Given the description of an element on the screen output the (x, y) to click on. 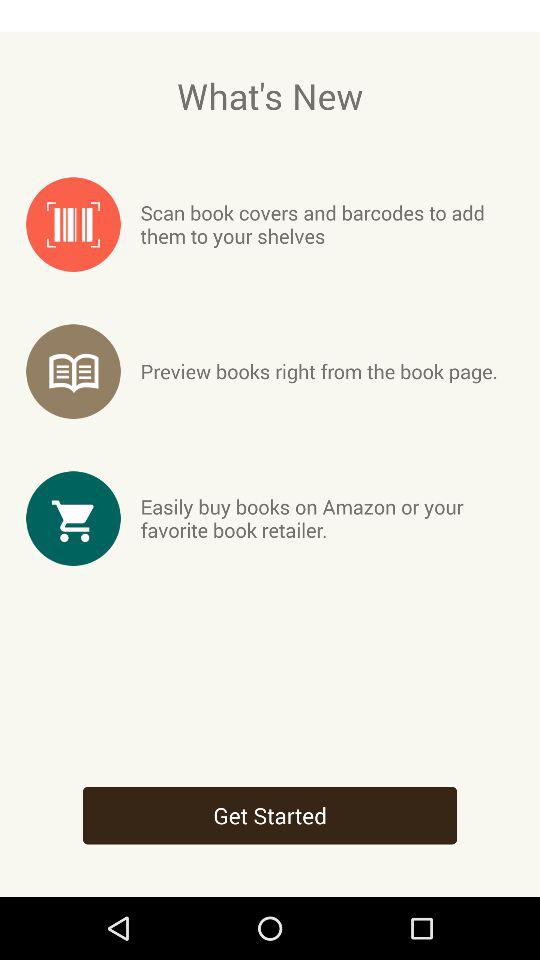
open item below what's new item (326, 224)
